Given the description of an element on the screen output the (x, y) to click on. 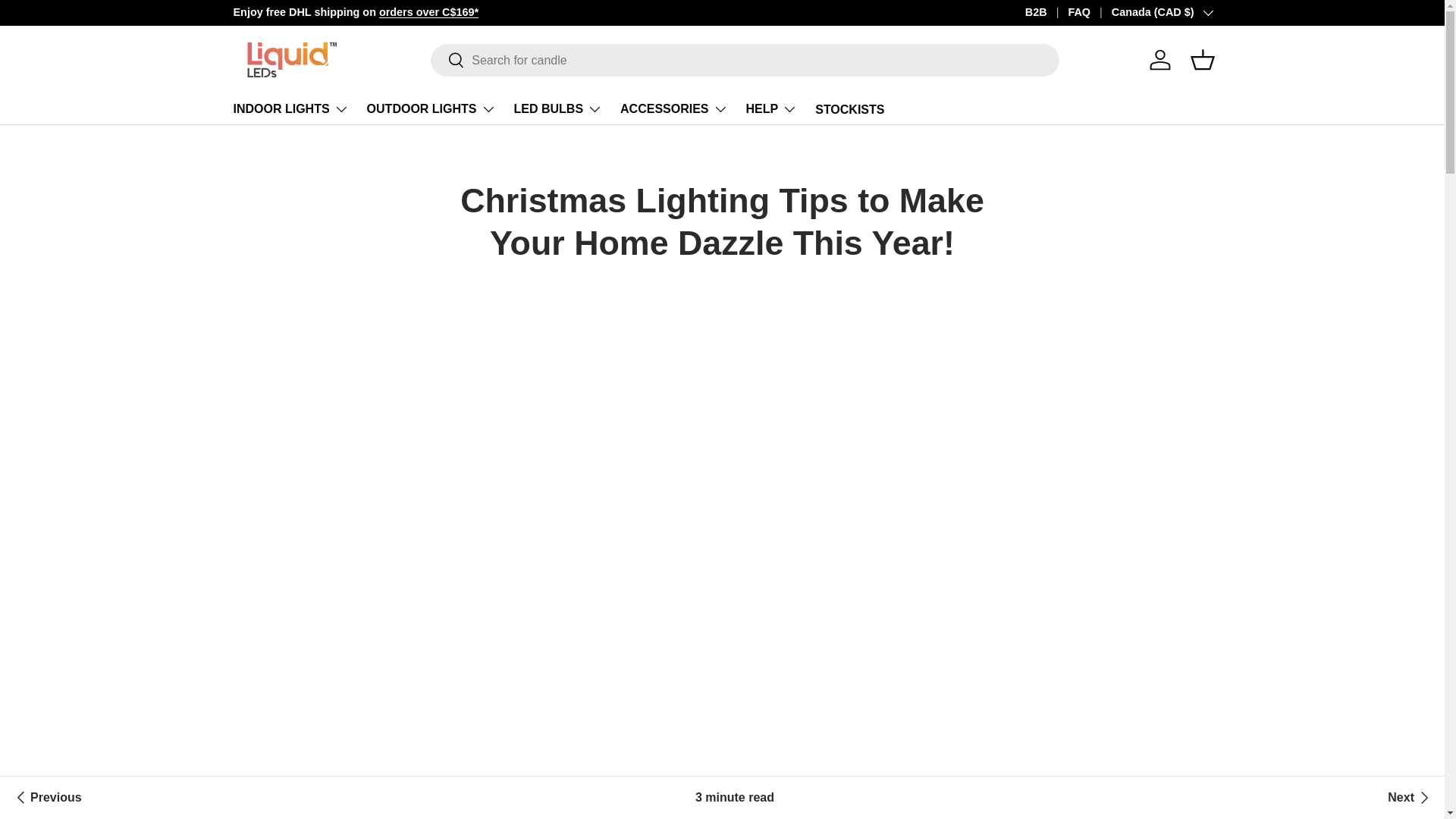
No Quibble Guarantee (1198, 11)
Skip to content (69, 21)
Returns Policy (1198, 11)
INDOOR LIGHTS (290, 109)
LED BULBS (557, 109)
OUTDOOR LIGHTS (431, 109)
FAQ (1088, 12)
Basket (1203, 59)
B2B (1046, 12)
